Given the description of an element on the screen output the (x, y) to click on. 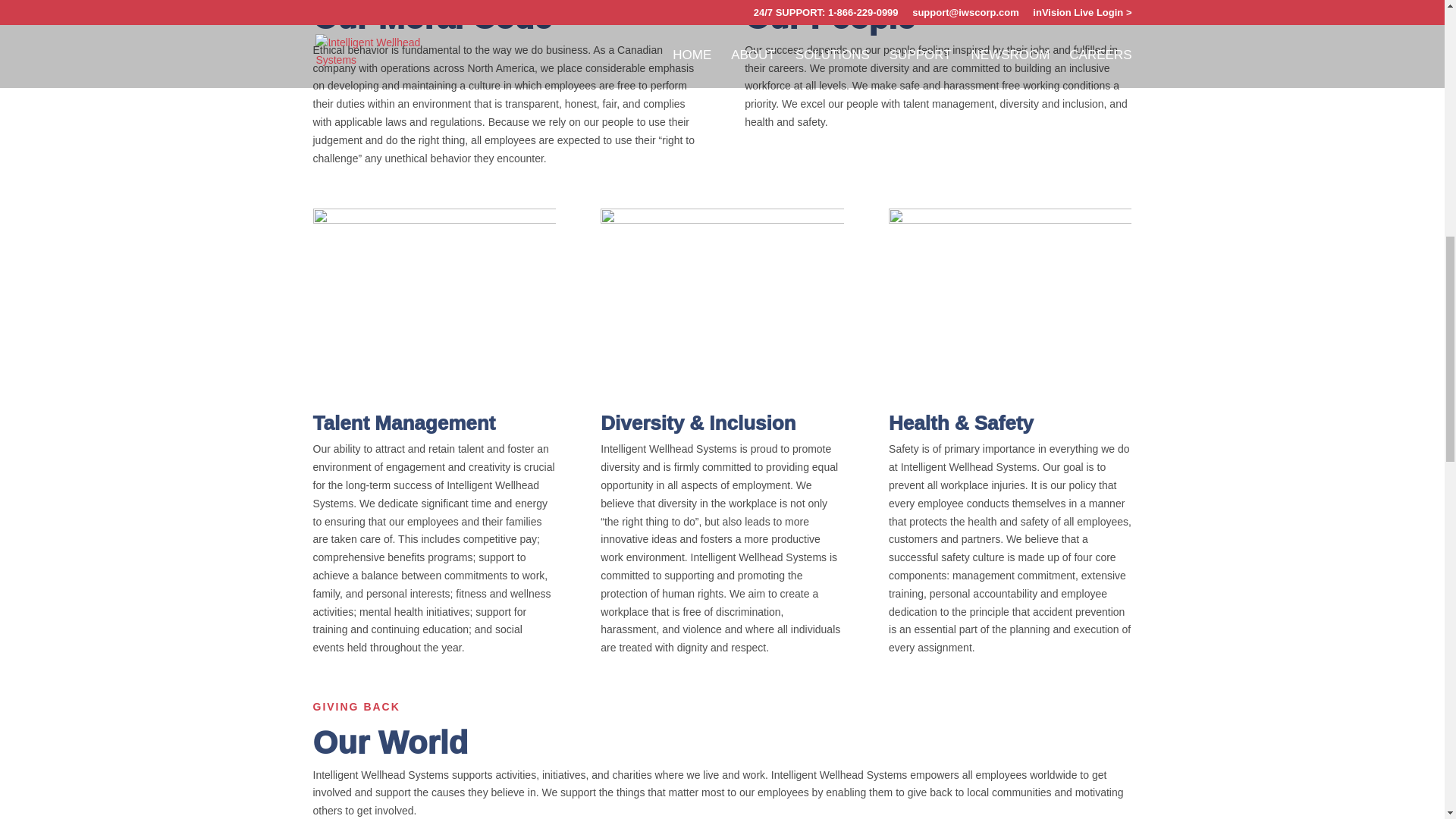
Team2 (721, 299)
Ricardo (1009, 299)
SupportA (433, 299)
